Given the description of an element on the screen output the (x, y) to click on. 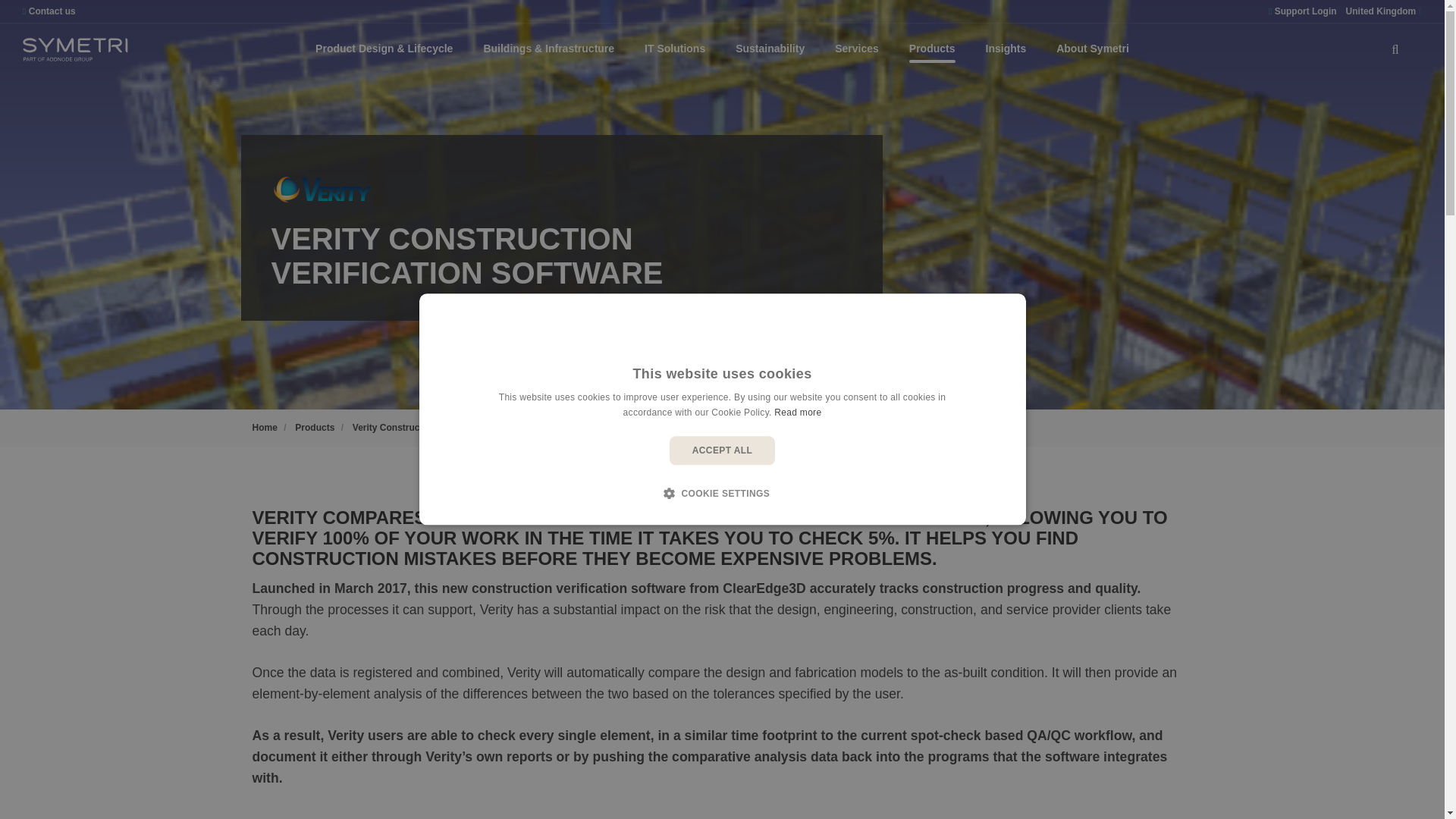
Symetri.co.uk (75, 49)
United Kingdom (1383, 11)
Support Login (1302, 11)
Contact us (49, 11)
